Given the description of an element on the screen output the (x, y) to click on. 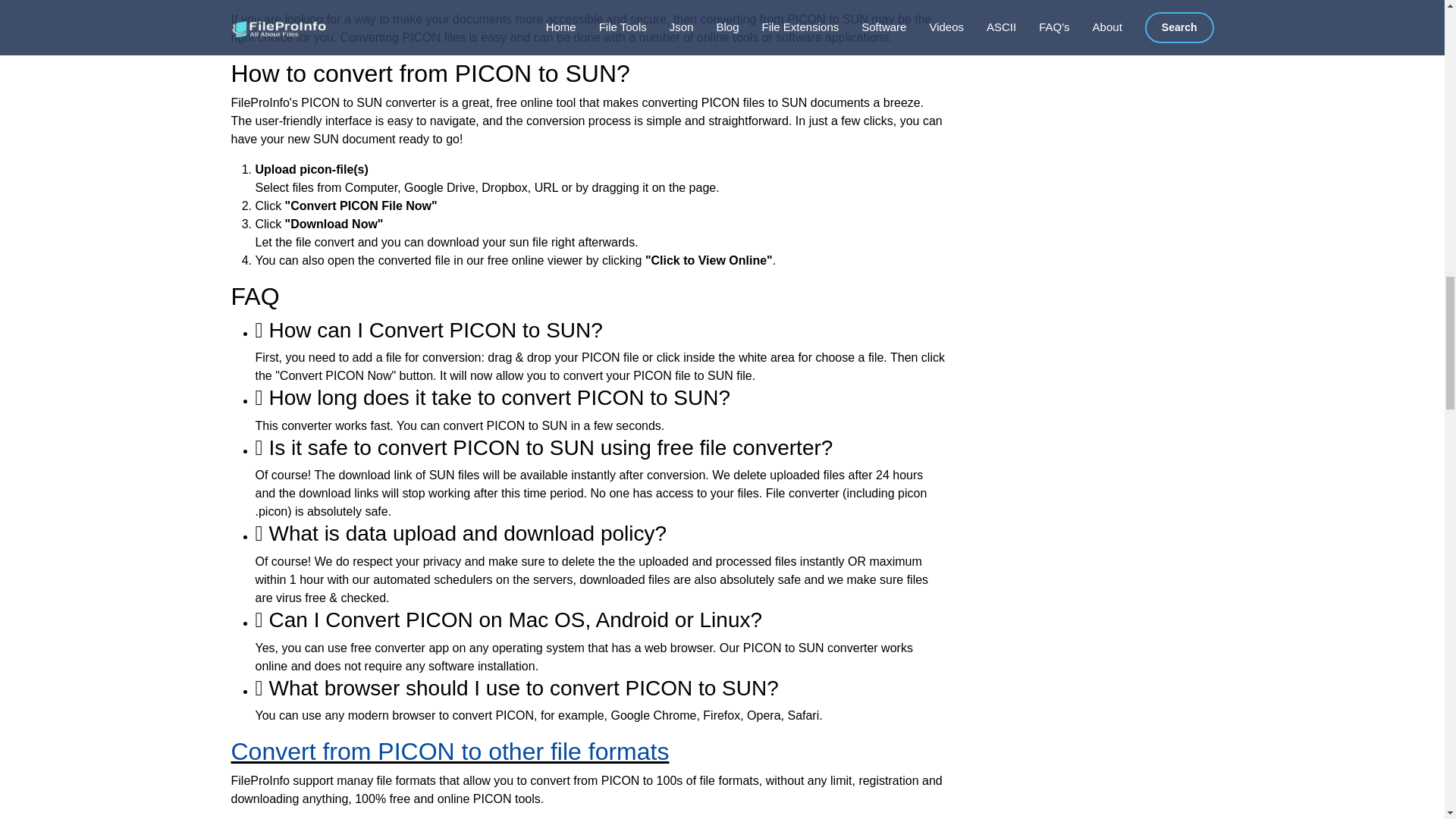
Convert from PICON to other file formats (449, 750)
